Given the description of an element on the screen output the (x, y) to click on. 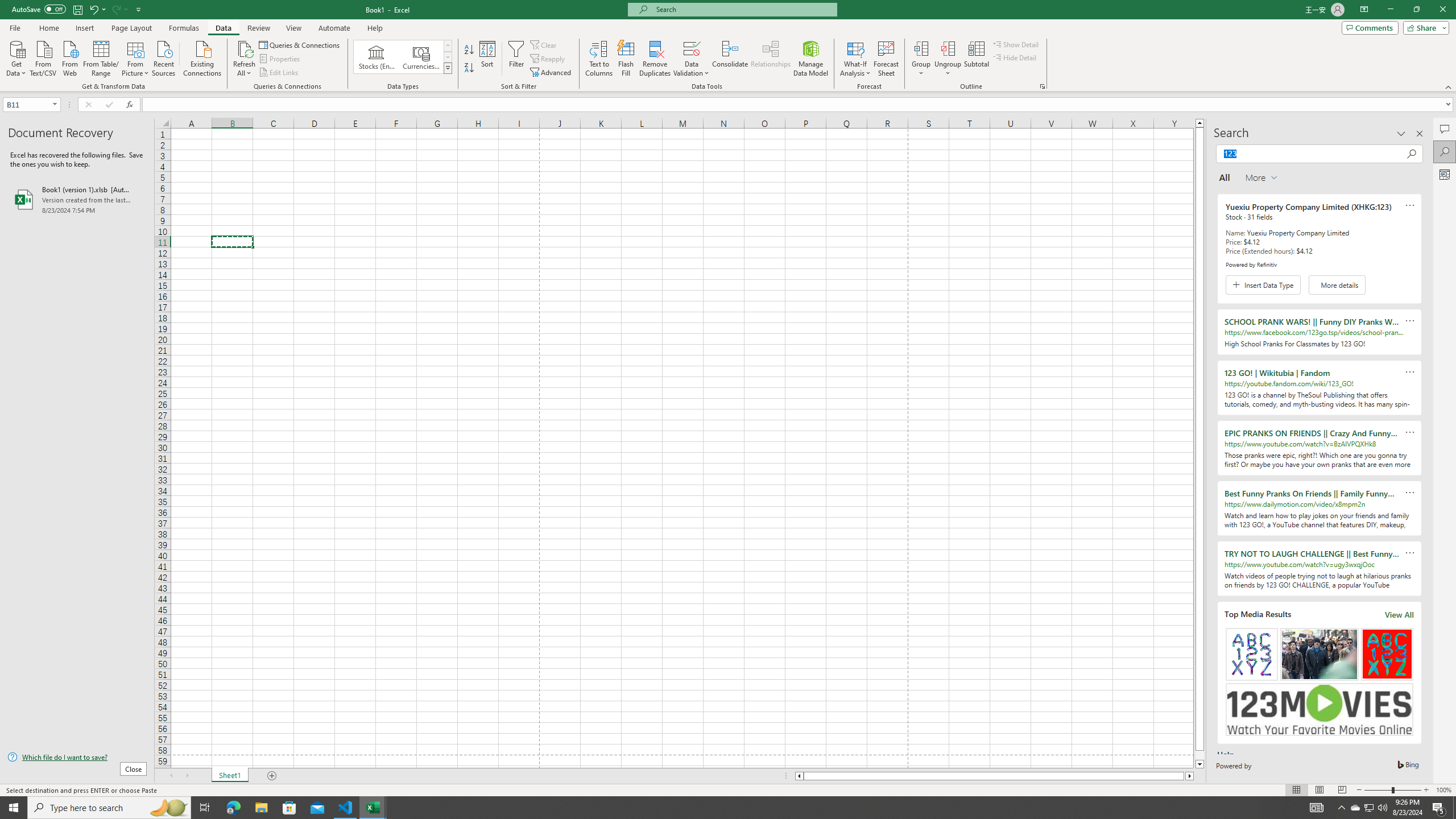
From Picture (135, 57)
